Given the description of an element on the screen output the (x, y) to click on. 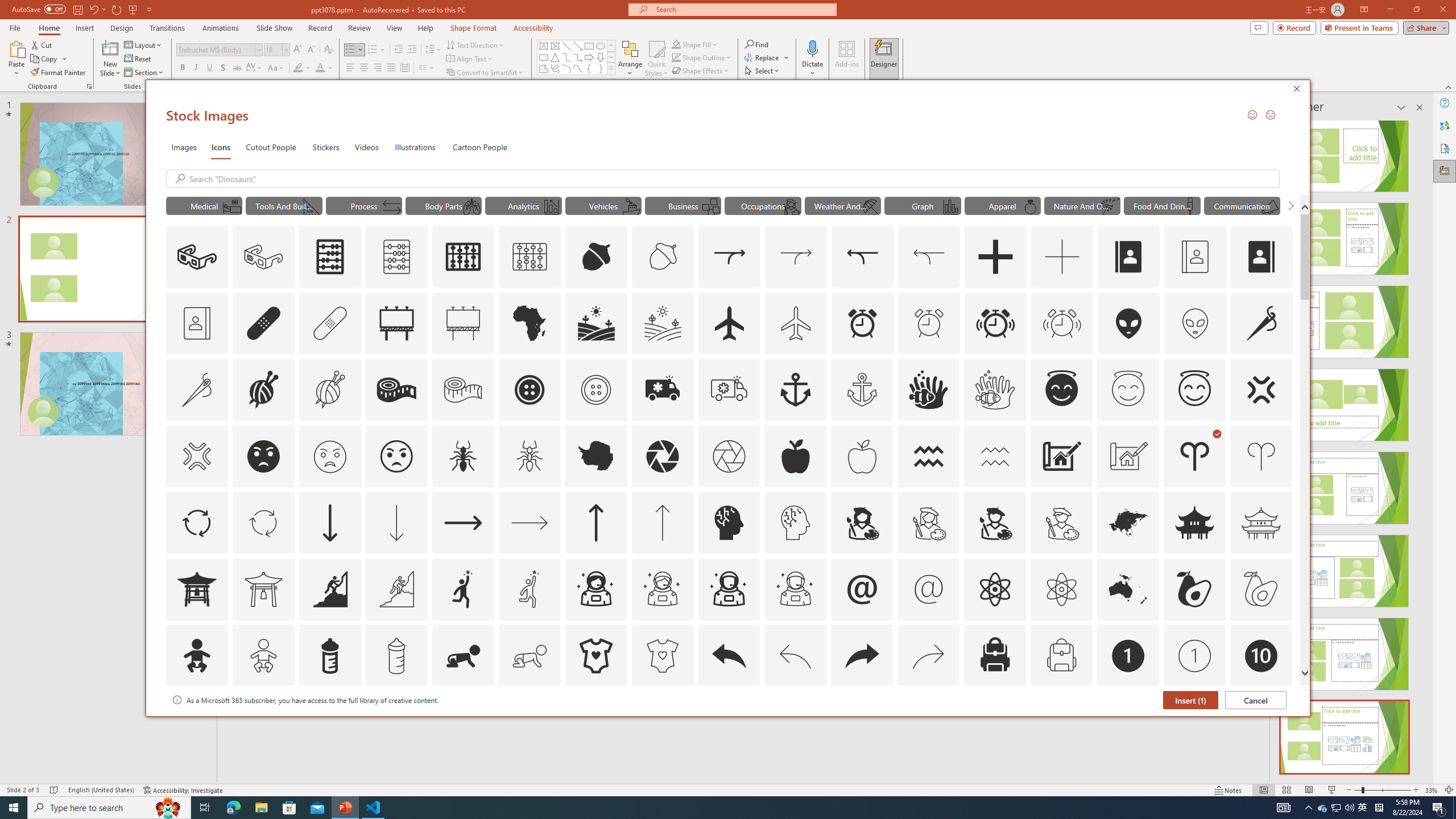
AutomationID: Icons_AsianTemple1 (196, 588)
AutomationID: Icons_AsianTemple_M (1260, 522)
AutomationID: Icons_AlterationsTailoring1 (263, 389)
AutomationID: Icons_At_M (928, 588)
AutomationID: Icons_Badge9_M (1260, 721)
AutomationID: Icons_ArrowUp (595, 522)
AutomationID: Icons_Inpatient_M (231, 206)
"Process" Icons. (363, 205)
